Given the description of an element on the screen output the (x, y) to click on. 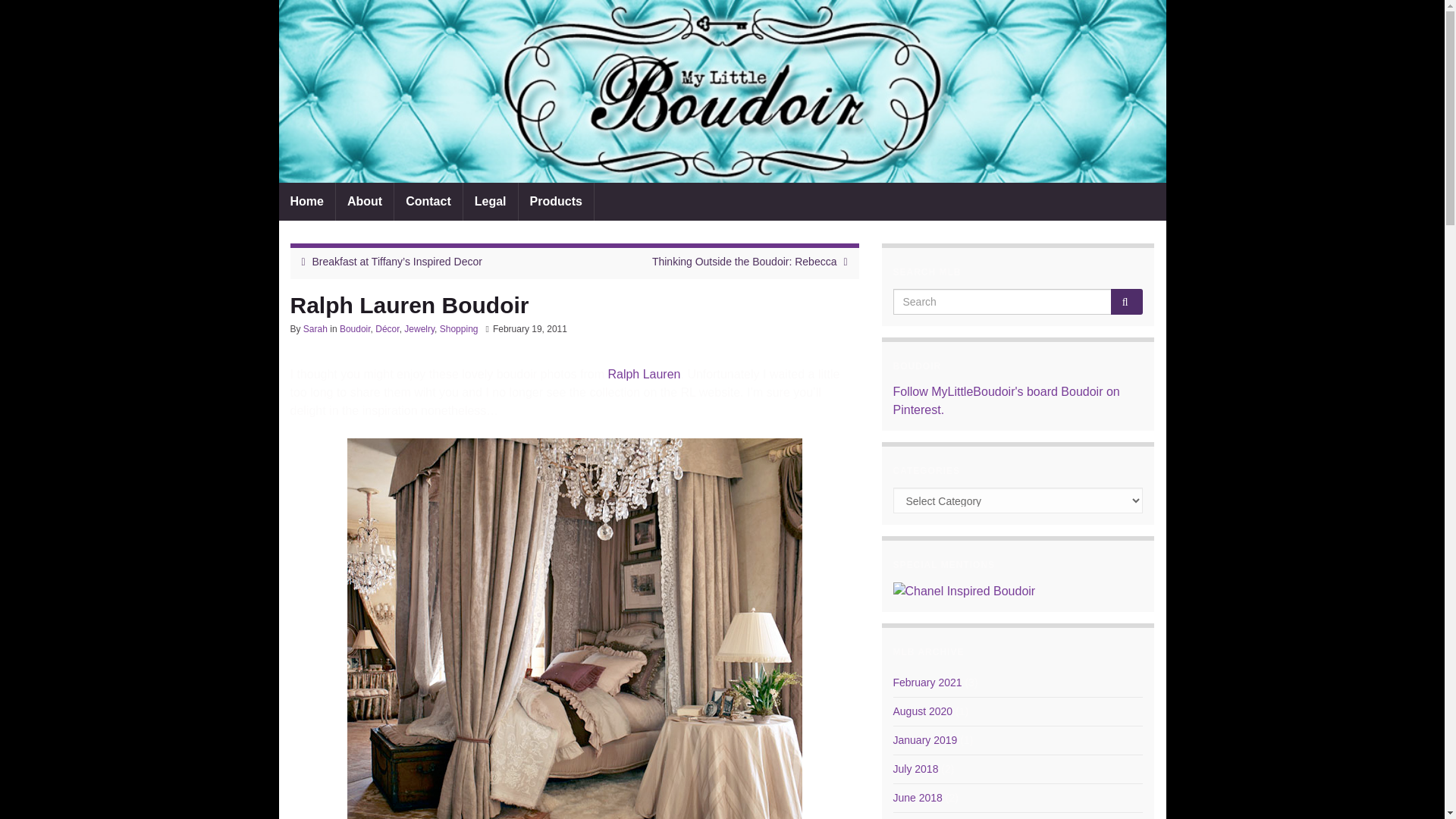
Ralph Lauren (643, 373)
Products (556, 201)
Sarah (314, 328)
June 2018 (917, 797)
August 2020 (923, 711)
January 2019 (925, 739)
February 2021 (927, 682)
Boudoir (355, 328)
July 2018 (916, 768)
About (364, 201)
2011-02-19T11:42:21-08:00 (530, 328)
Shopping (459, 328)
Home (306, 201)
Follow MyLittleBoudoir's board Boudoir on Pinterest. (1006, 400)
